Given the description of an element on the screen output the (x, y) to click on. 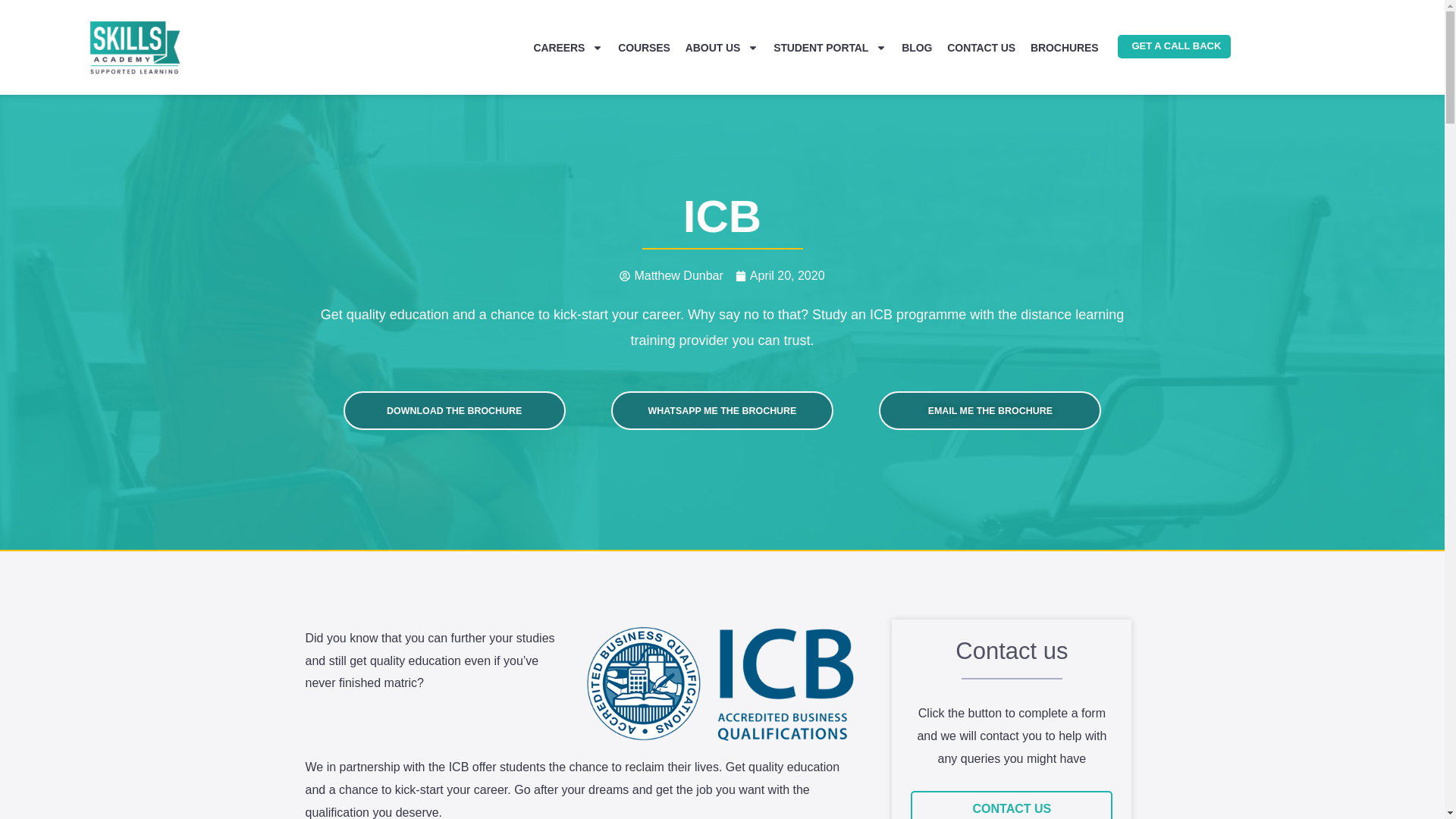
CAREERS (568, 18)
ABOUT US (721, 24)
COURSES (644, 22)
CONTACT US (981, 43)
BROCHURES (1064, 44)
STUDENT PORTAL (829, 39)
BLOG (917, 43)
Skills Academy (134, 46)
